Given the description of an element on the screen output the (x, y) to click on. 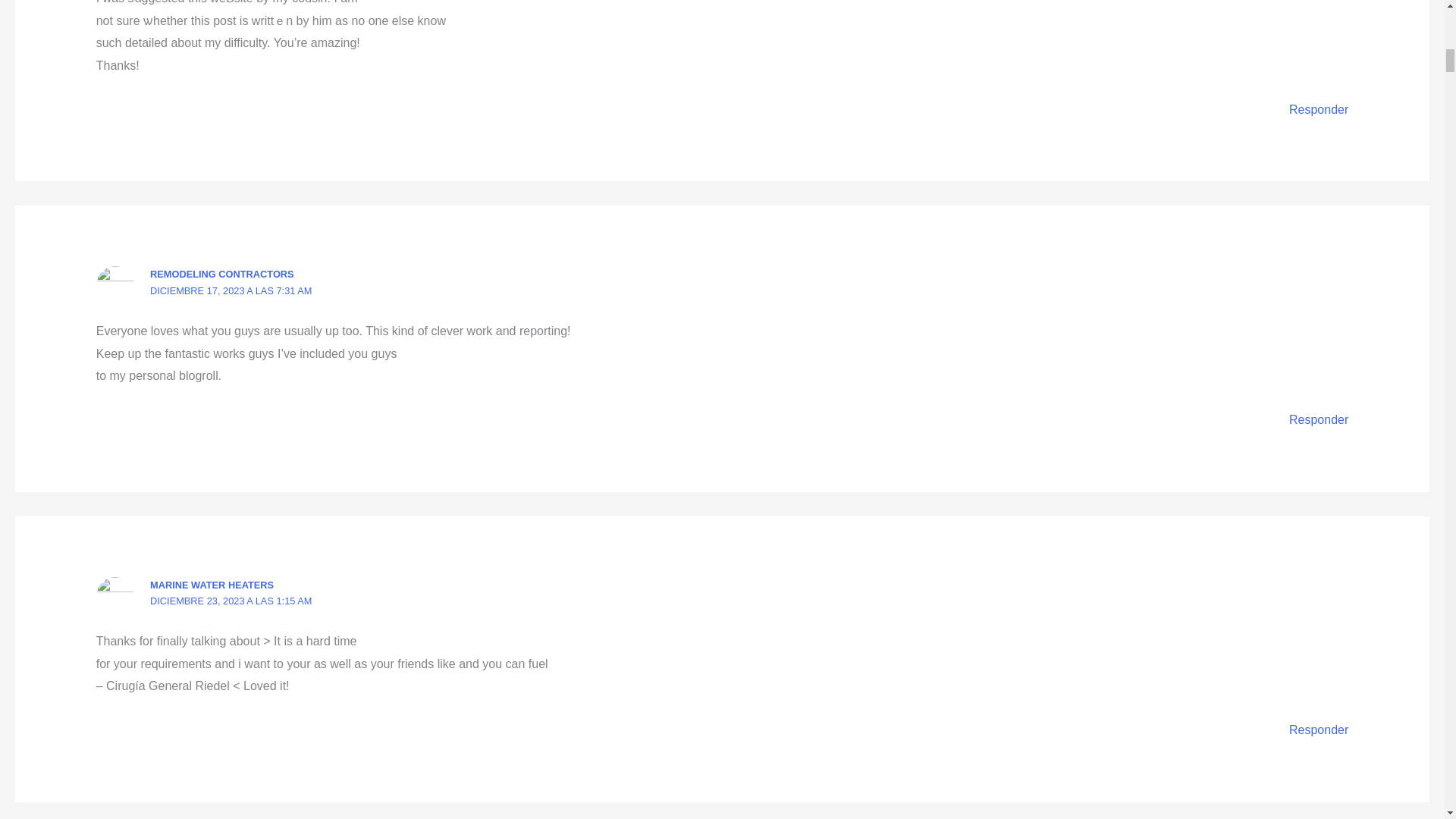
Responder (1318, 419)
DICIEMBRE 23, 2023 A LAS 1:15 AM (230, 600)
DICIEMBRE 17, 2023 A LAS 7:31 AM (230, 290)
MARINE WATER HEATERS (211, 584)
Responder (1318, 109)
REMODELING CONTRACTORS (221, 274)
Responder (1318, 729)
